Given the description of an element on the screen output the (x, y) to click on. 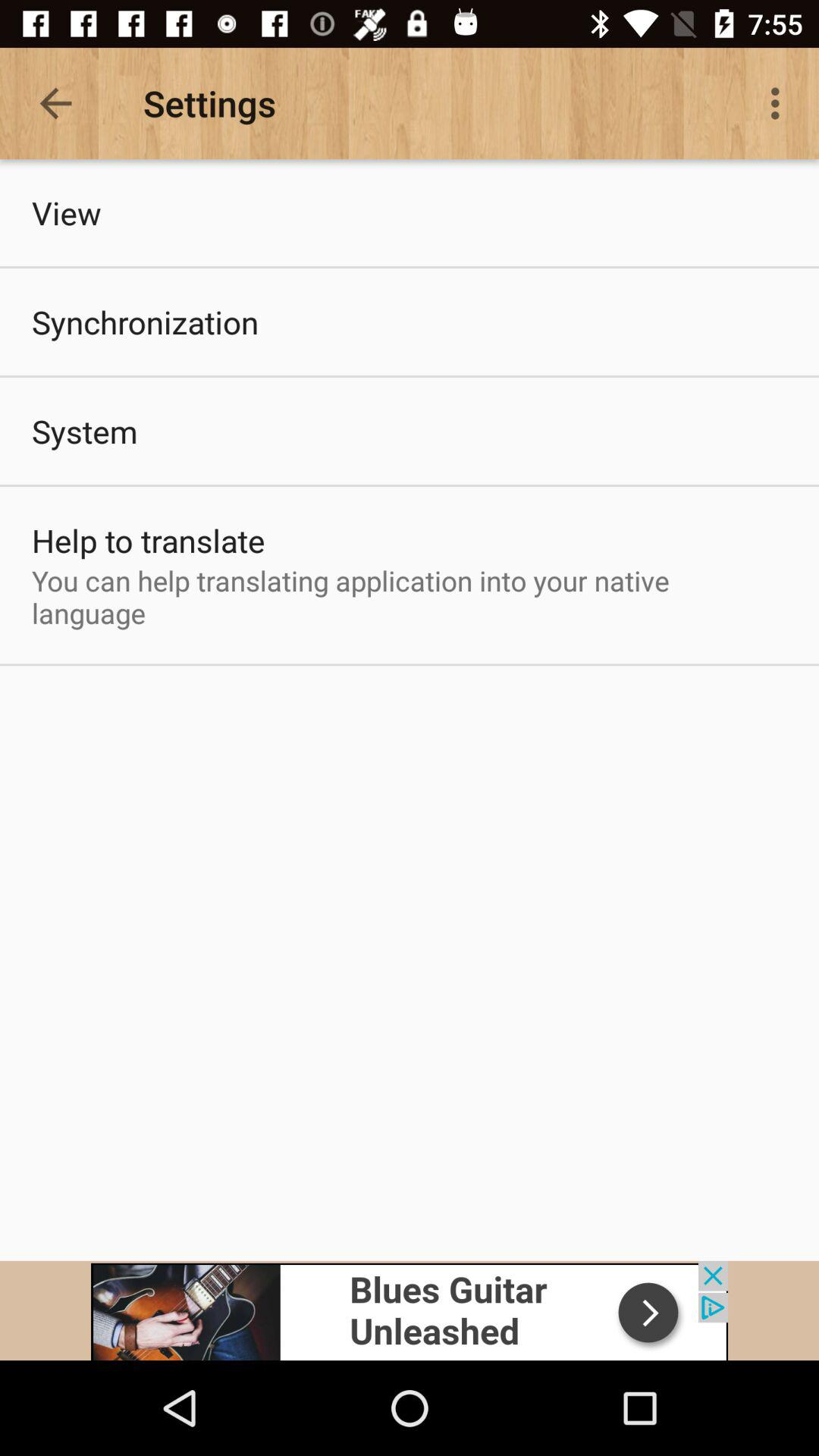
advertisement (409, 1310)
